Given the description of an element on the screen output the (x, y) to click on. 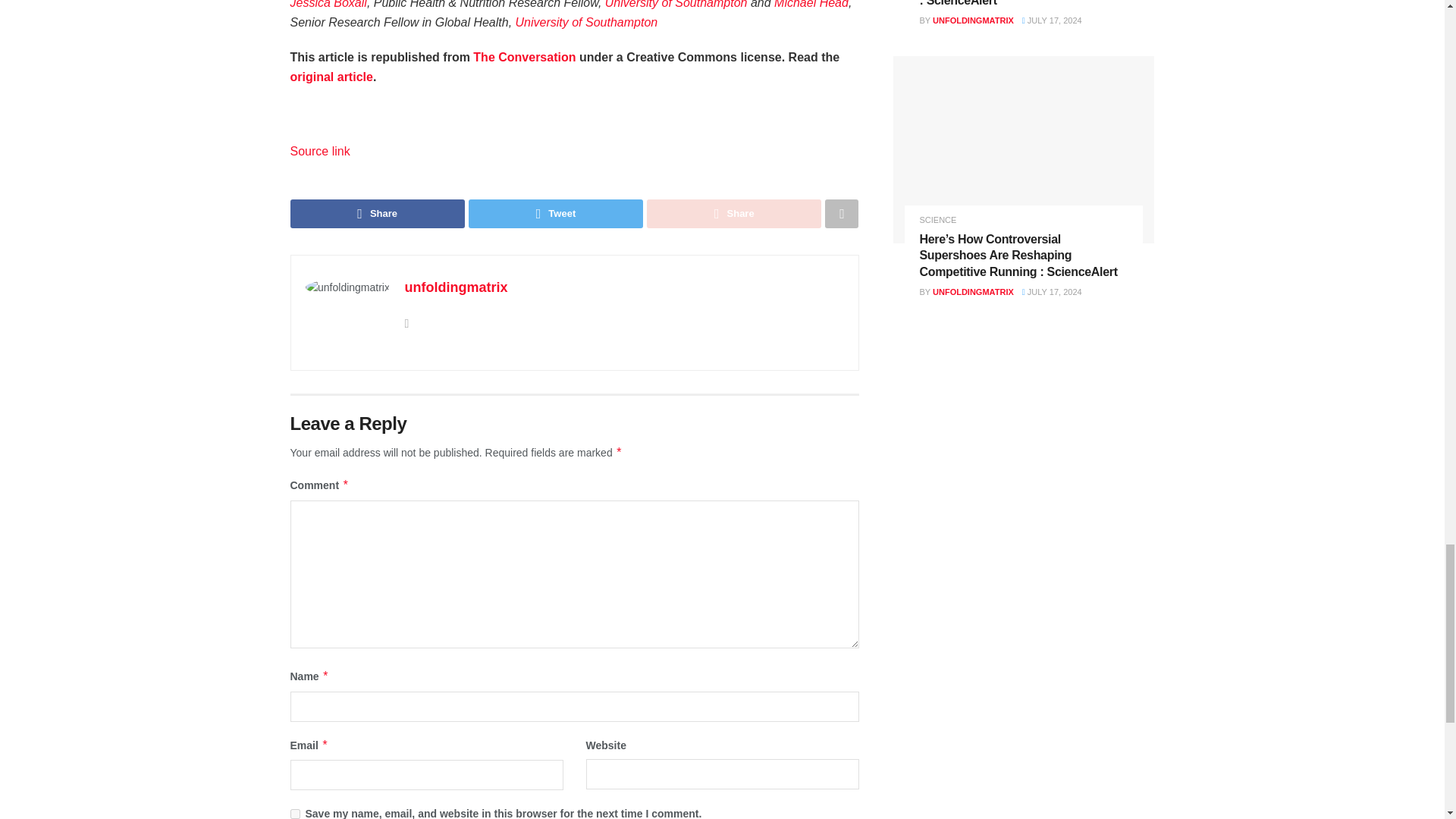
yes (294, 814)
